Given the description of an element on the screen output the (x, y) to click on. 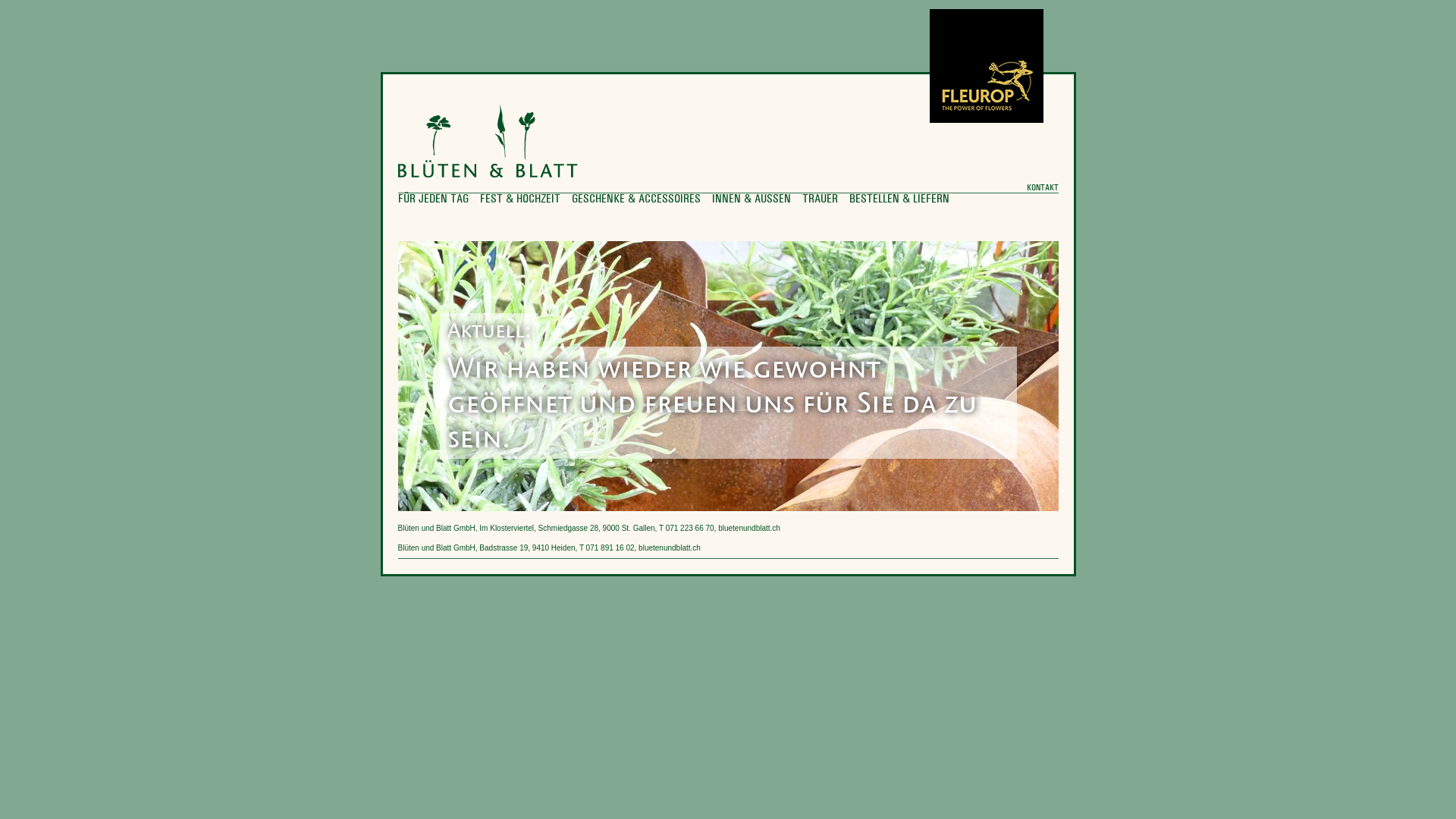
TRAUER Element type: text (819, 199)
GESCHENKE & ACCESSOIRES Element type: text (635, 199)
INNEN & AUSSEN Element type: text (750, 199)
KONTAKT Element type: text (1042, 187)
BESTELLEN & LIEFERN Element type: text (899, 199)
Weltweite Blumenlieferungen bei Fleurop bestellen Element type: hover (986, 64)
FEST & HOCHZEIT Element type: text (519, 199)
